Given the description of an element on the screen output the (x, y) to click on. 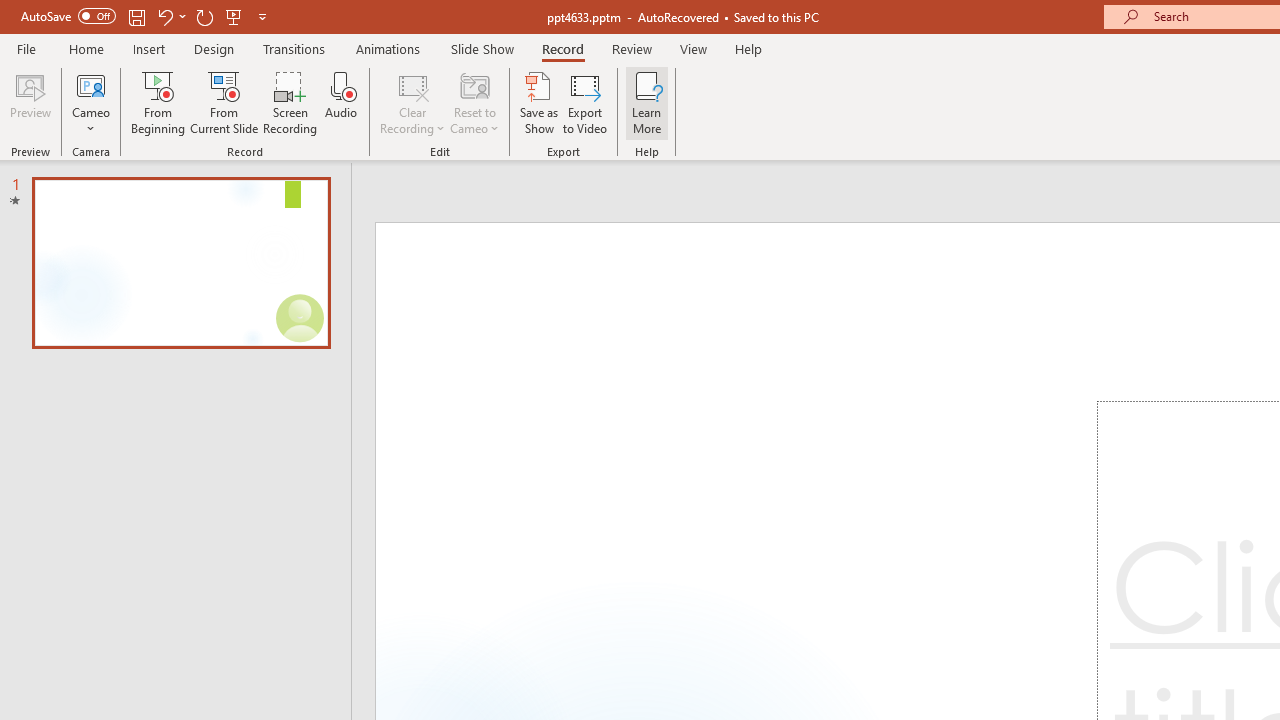
Audio (341, 102)
Insert (149, 48)
Screen Recording (290, 102)
Save as Show (539, 102)
Cameo (91, 102)
Review (631, 48)
Preview (30, 102)
Export to Video (585, 102)
Customize Quick Access Toolbar (262, 15)
More Options (91, 121)
Save (136, 15)
Learn More (646, 102)
